Given the description of an element on the screen output the (x, y) to click on. 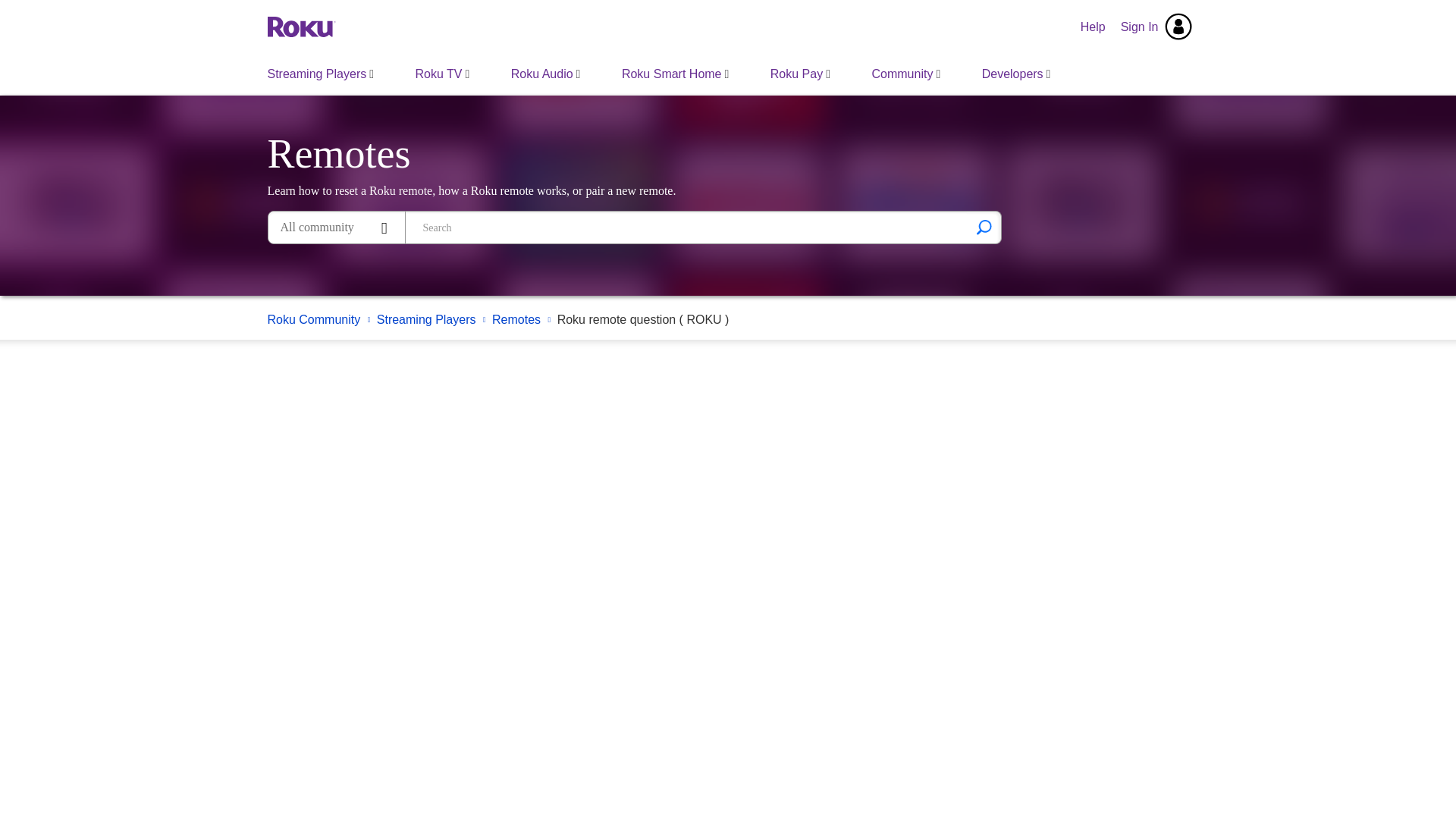
Streaming Players (320, 73)
Roku Smart Home (675, 73)
Help (1093, 26)
Search (983, 227)
Developers (1016, 73)
Roku Audio (545, 73)
Sign In (1156, 26)
Search (983, 227)
Roku Pay (799, 73)
Roku Community (300, 26)
